Given the description of an element on the screen output the (x, y) to click on. 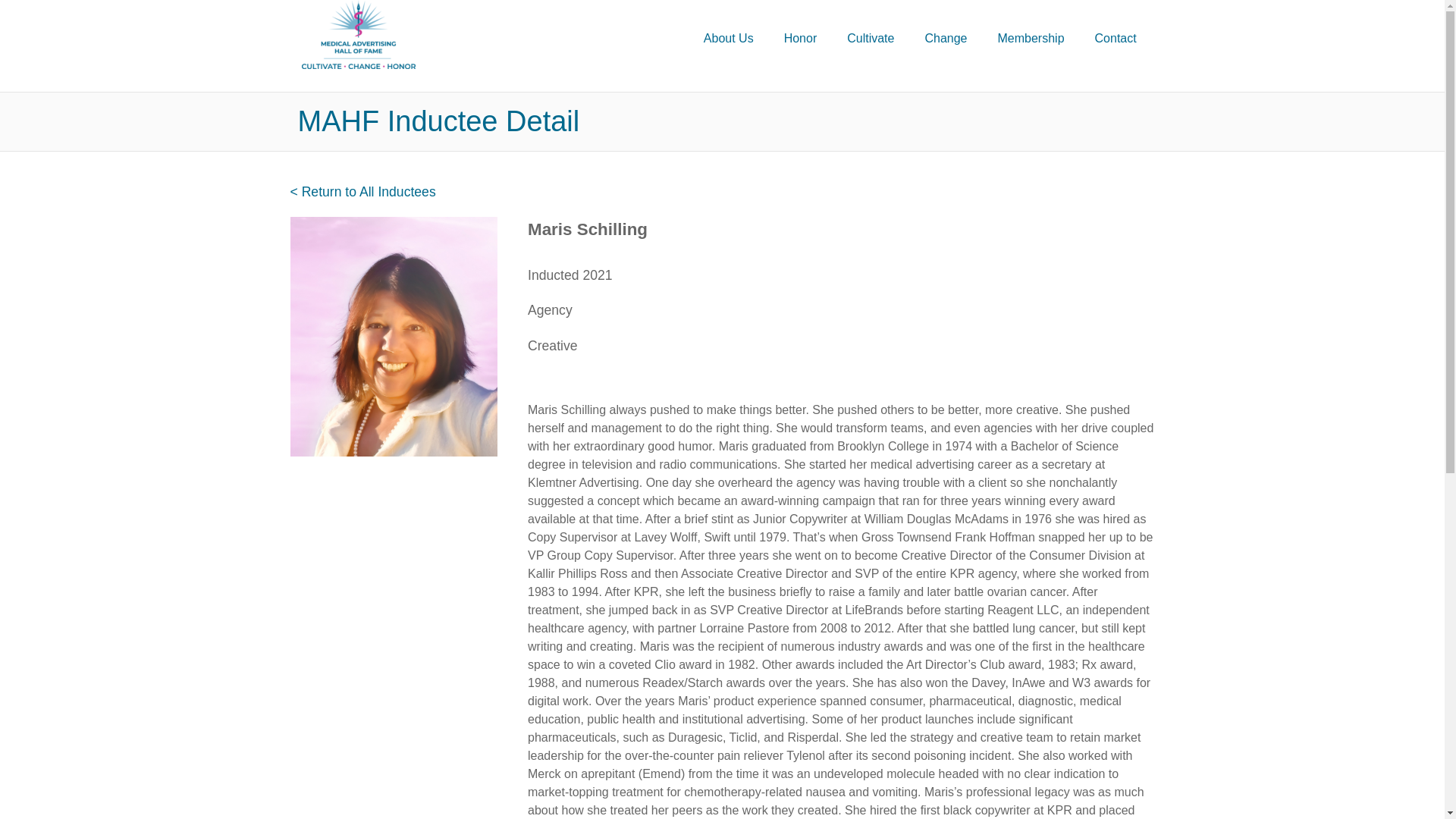
Contact (1115, 38)
Honor (800, 38)
Membership (1031, 38)
About Us (728, 38)
Cultivate (869, 38)
Change (944, 38)
